Given the description of an element on the screen output the (x, y) to click on. 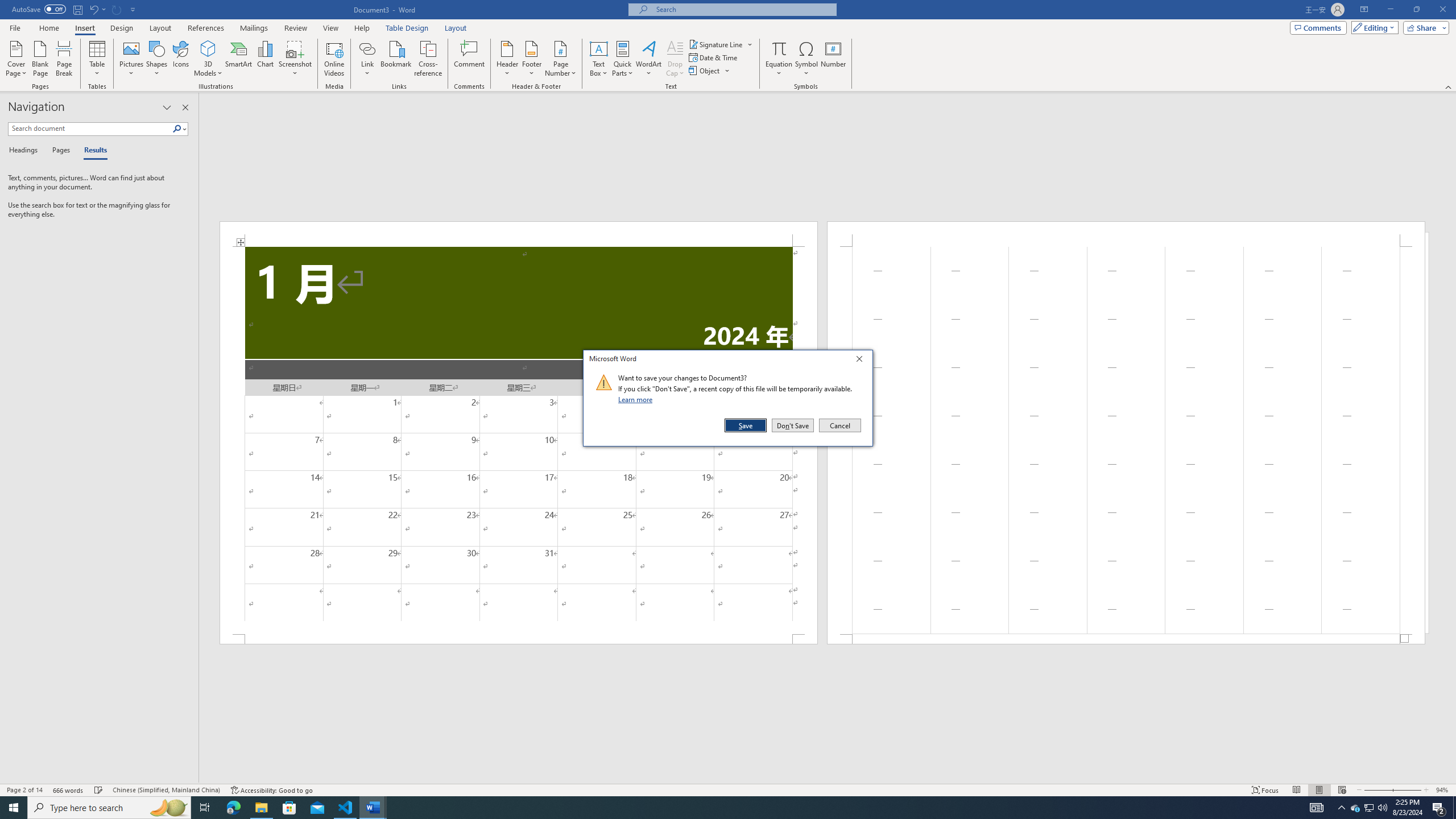
Footer (531, 58)
Drop Cap (674, 58)
Link (367, 58)
Task View (204, 807)
Date & Time... (714, 56)
Cover Page (16, 58)
Equation (778, 48)
Online Videos... (333, 58)
Search highlights icon opens search home window (167, 807)
